Given the description of an element on the screen output the (x, y) to click on. 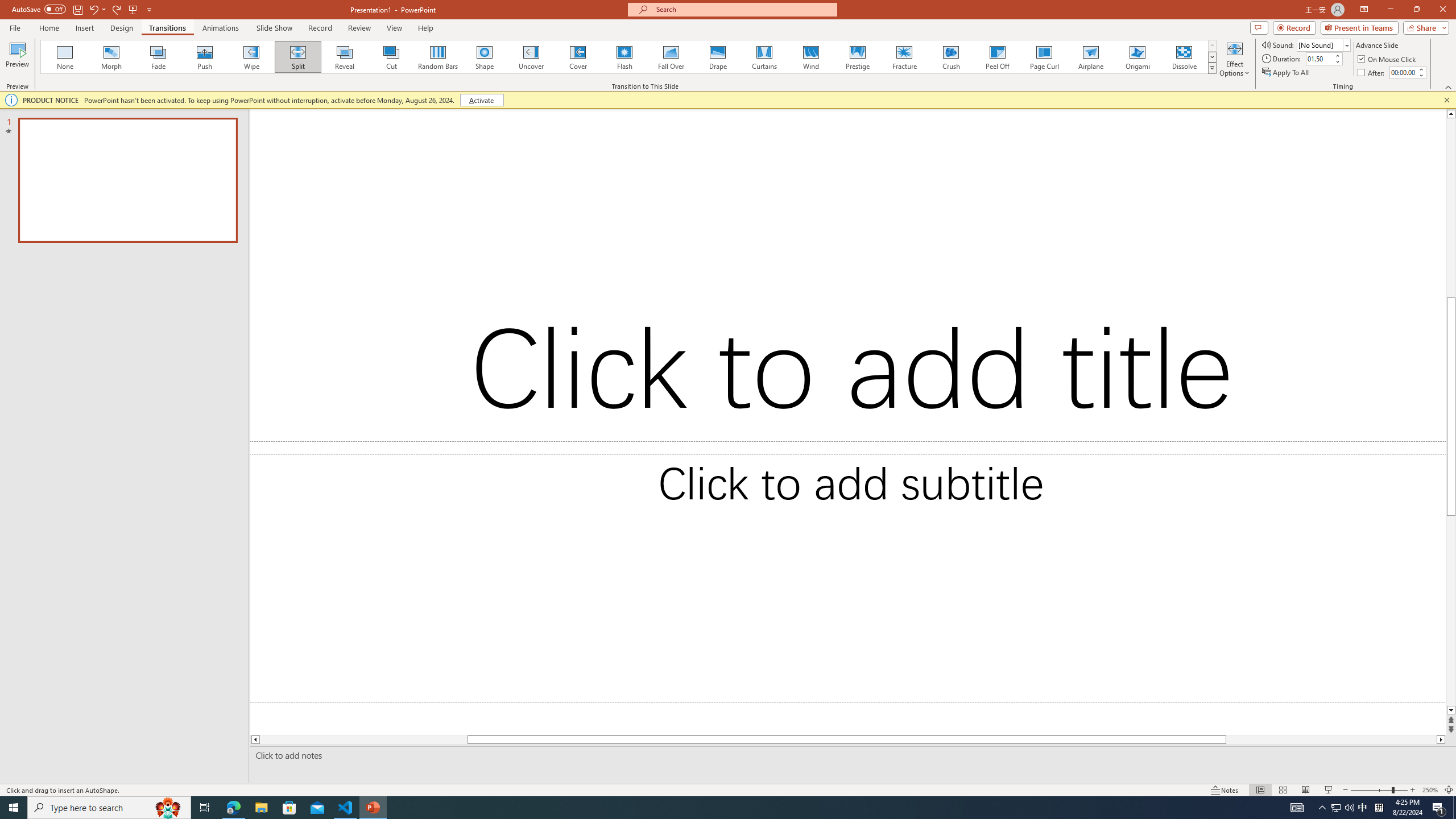
Fade (158, 56)
Crush (950, 56)
Origami (1136, 56)
Close this message (1446, 99)
Wind (810, 56)
Random Bars (437, 56)
